Given the description of an element on the screen output the (x, y) to click on. 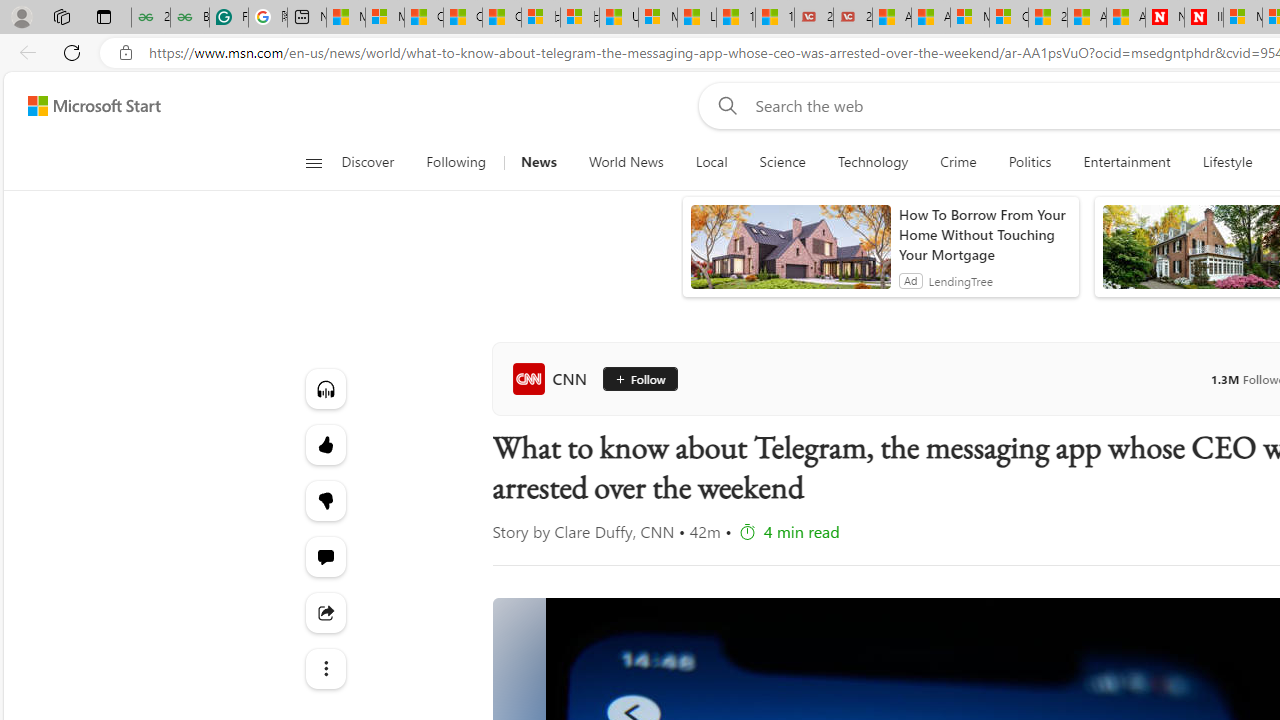
Newsweek - News, Analysis, Politics, Business, Technology (1164, 17)
USA TODAY - MSN (618, 17)
Illness news & latest pictures from Newsweek.com (1203, 17)
